Given the description of an element on the screen output the (x, y) to click on. 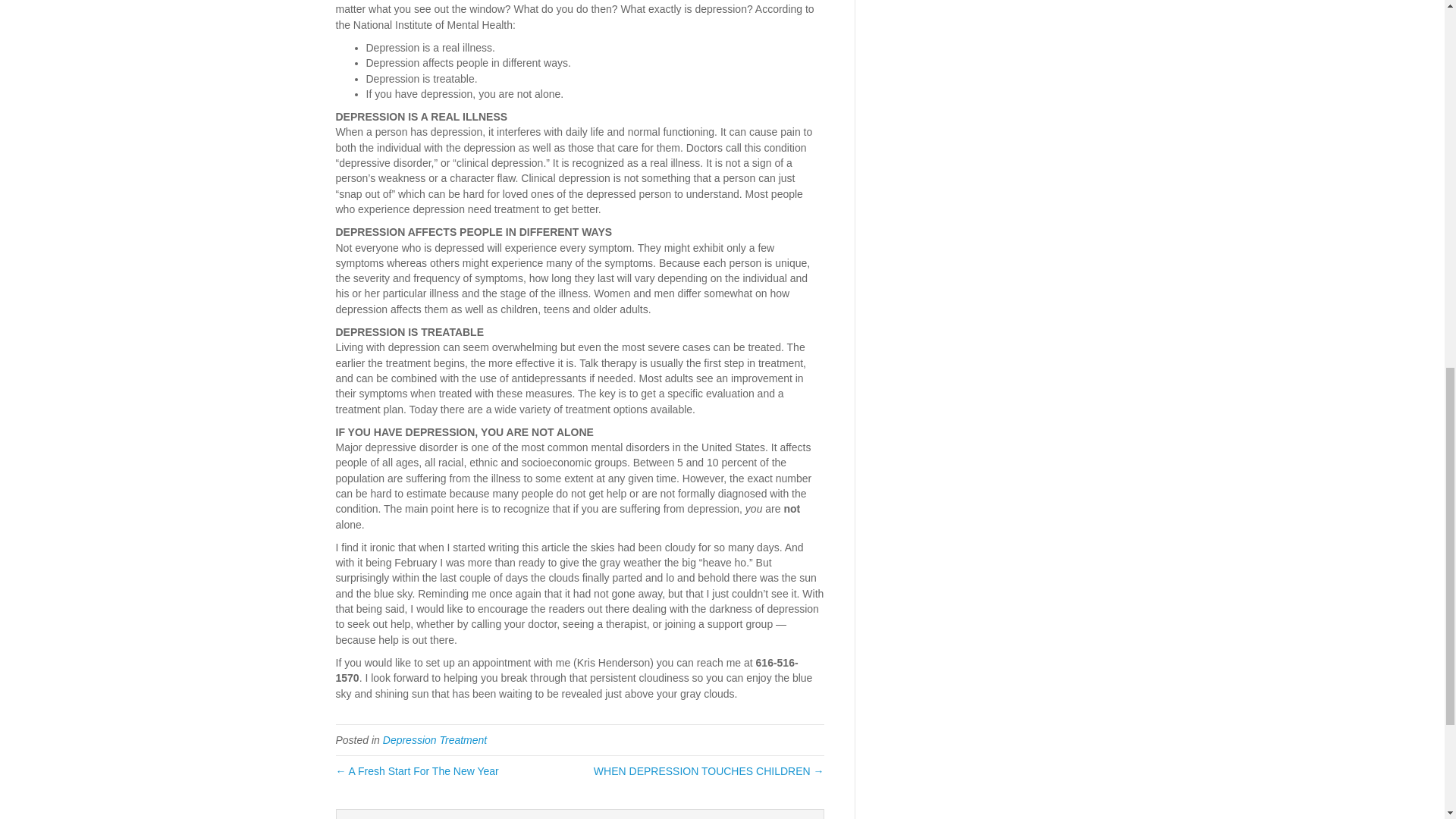
Depression Treatment (434, 739)
